Given the description of an element on the screen output the (x, y) to click on. 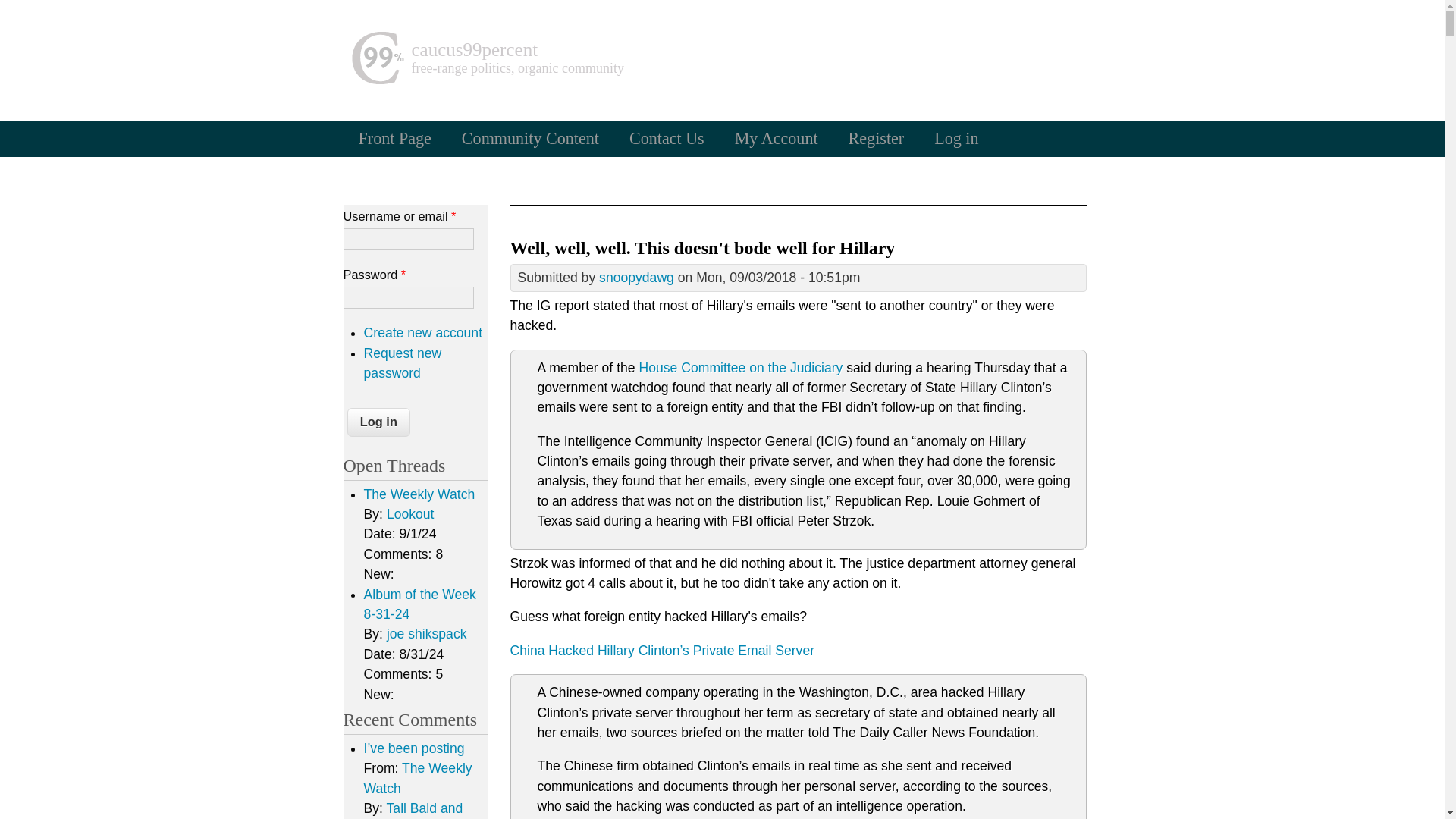
View user profile. (636, 277)
My personal user account (775, 138)
Community Content (530, 138)
Front Page (393, 138)
Contact Us (666, 138)
Home (376, 79)
snoopydawg (636, 277)
Log in (955, 138)
House Committee on the Judiciary (741, 367)
Home (473, 49)
